Given the description of an element on the screen output the (x, y) to click on. 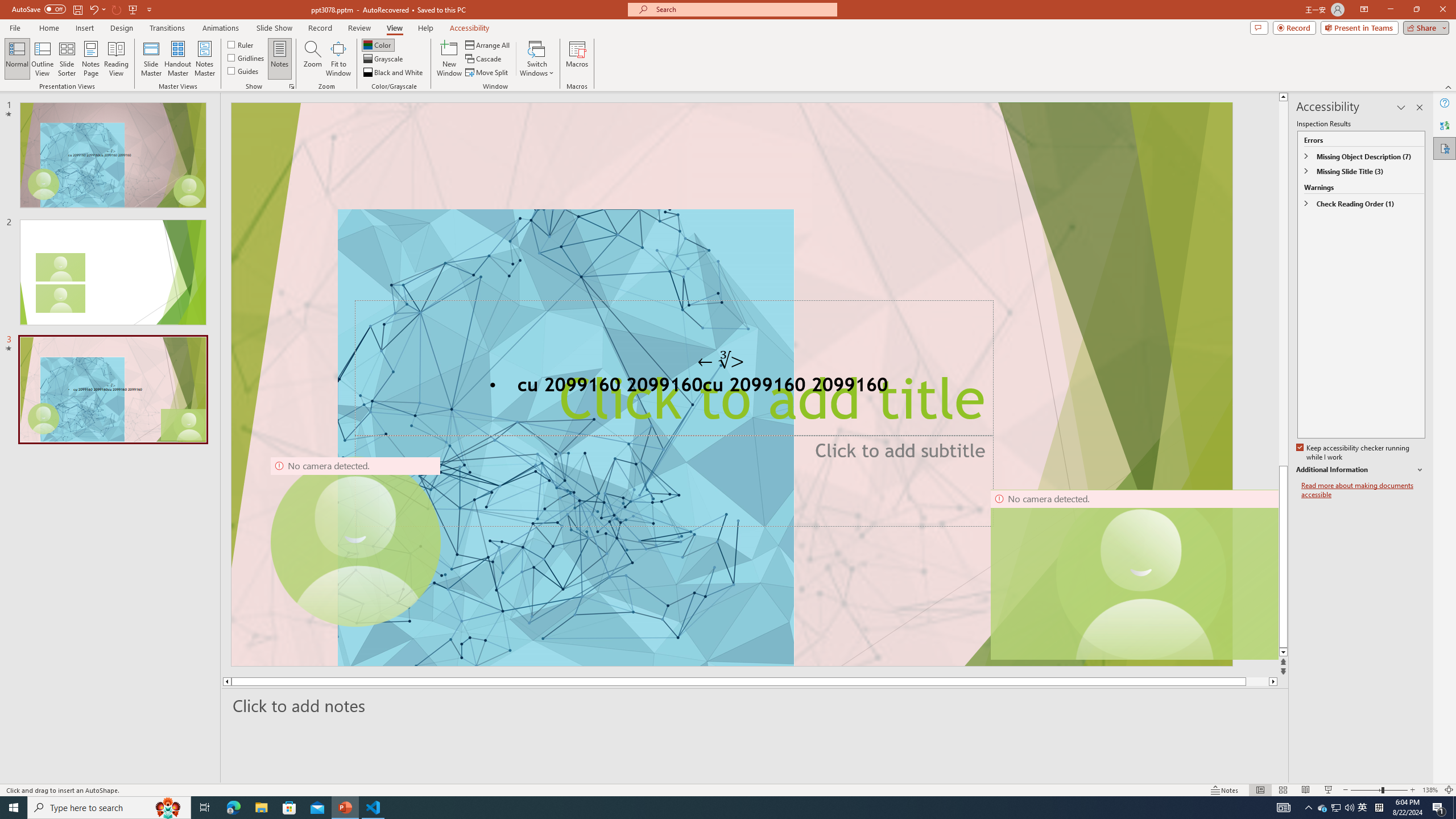
TextBox 61 (730, 386)
Switch Windows (537, 58)
Notes Page (90, 58)
Notes (279, 58)
Slide Master (151, 58)
